Given the description of an element on the screen output the (x, y) to click on. 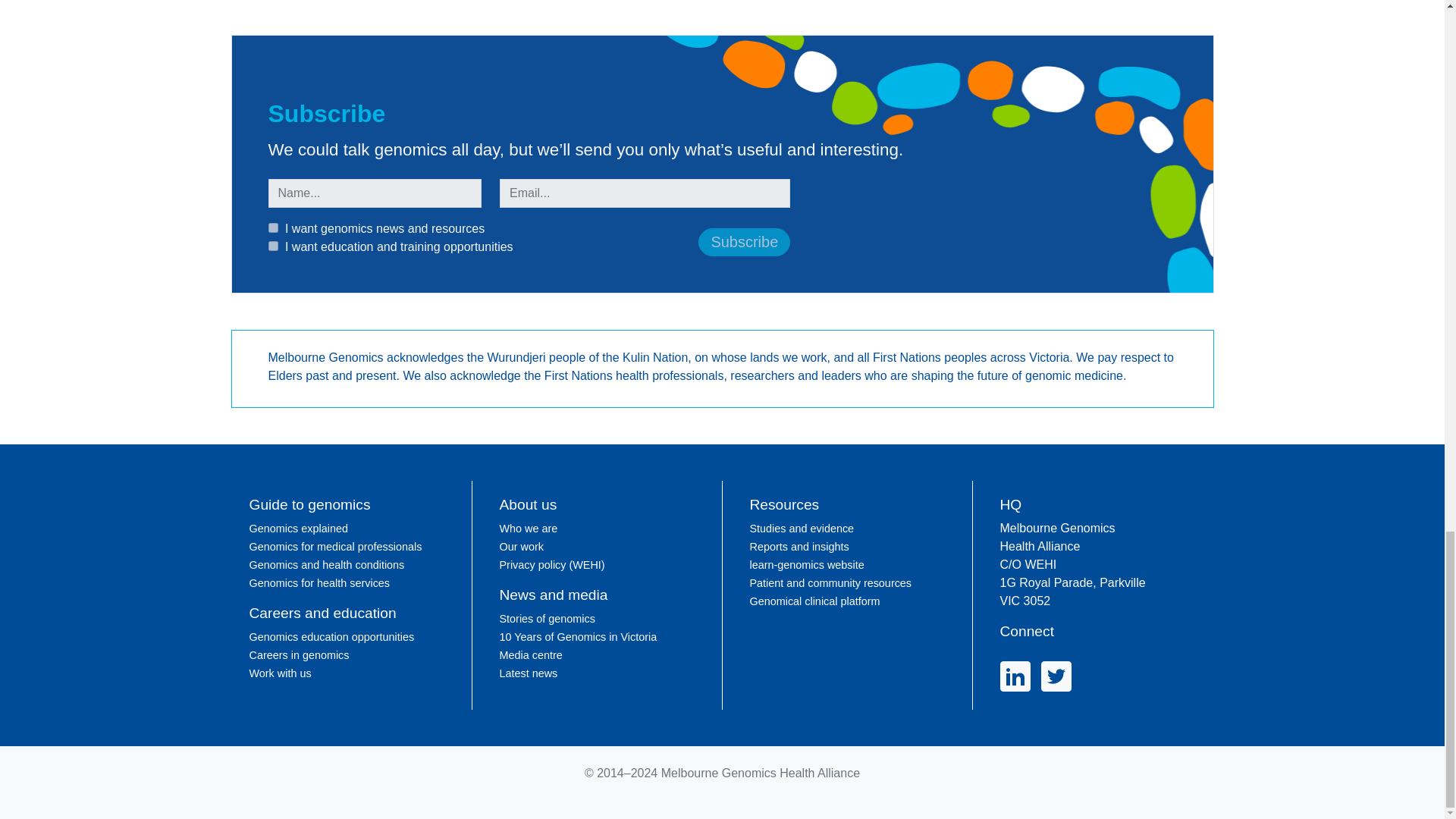
uhjlik (272, 227)
stkhkk (272, 245)
